Given the description of an element on the screen output the (x, y) to click on. 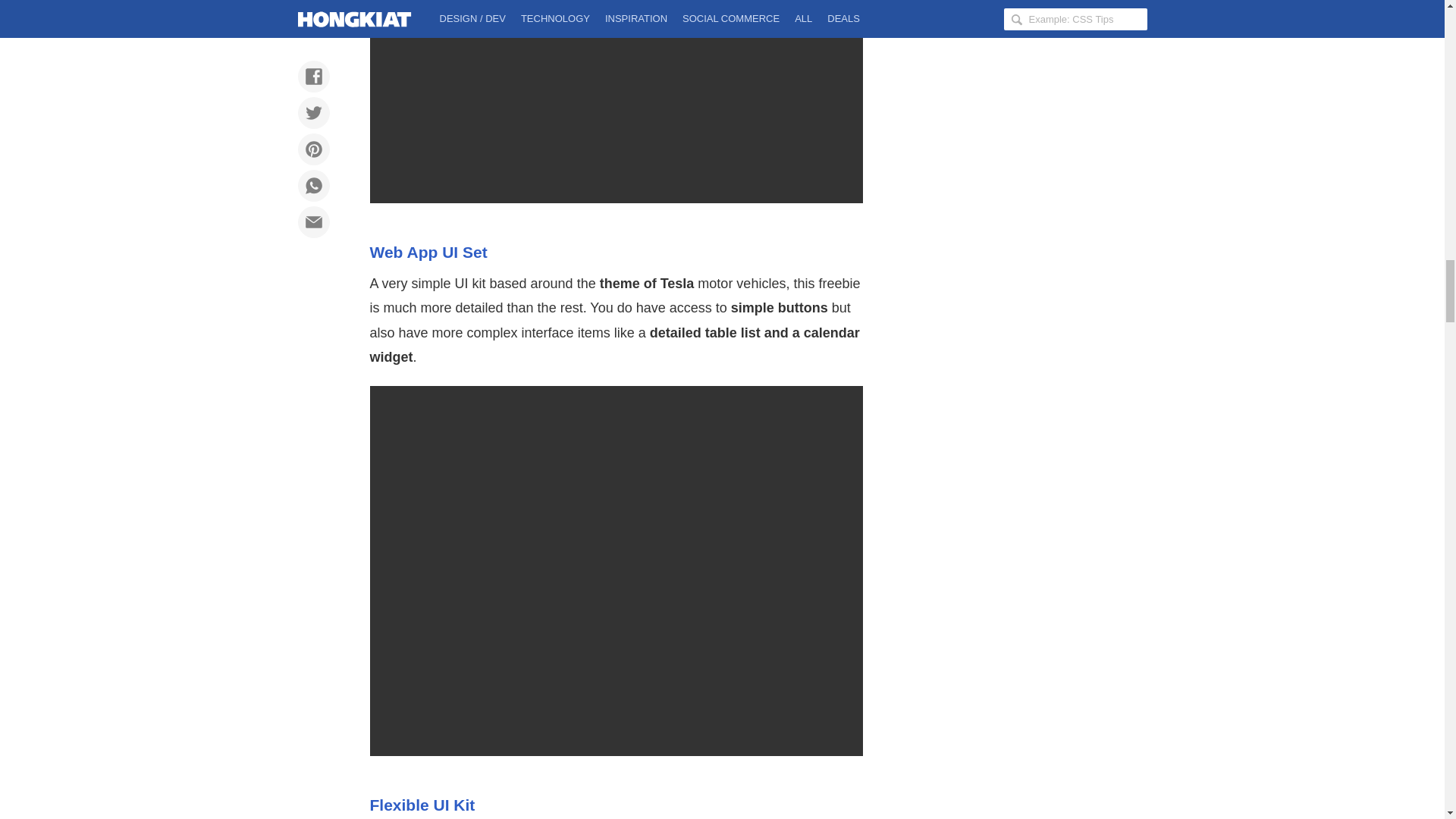
Web App UI Set (428, 252)
Flexible UI Kit (422, 805)
